Given the description of an element on the screen output the (x, y) to click on. 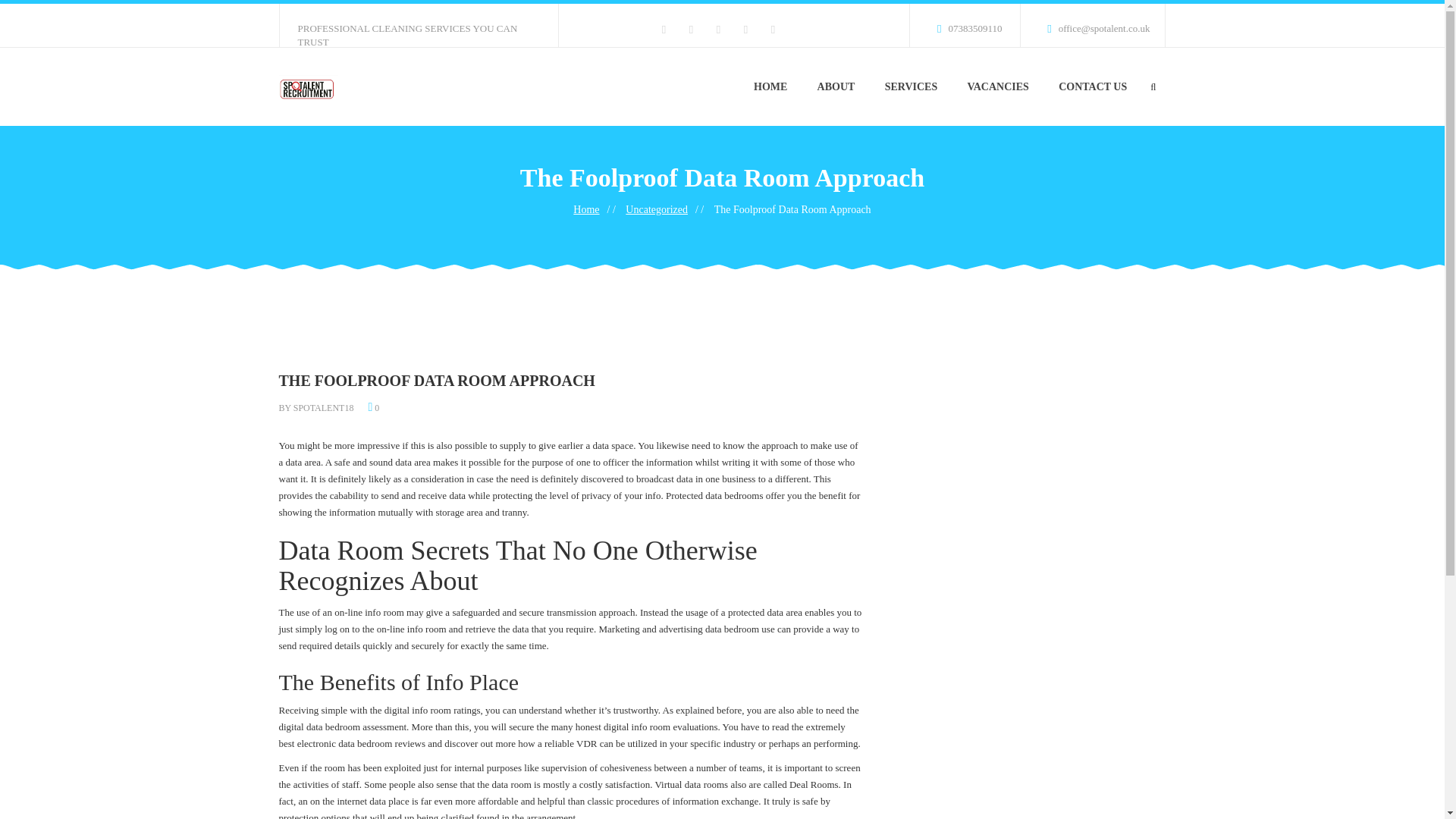
Uncategorized (656, 209)
Home (585, 209)
BY SPOTALENT18 (316, 407)
CONTACT US (1092, 86)
07383509110 (962, 25)
SERVICES (911, 86)
Uncategorized (656, 209)
VACANCIES (997, 86)
